Given the description of an element on the screen output the (x, y) to click on. 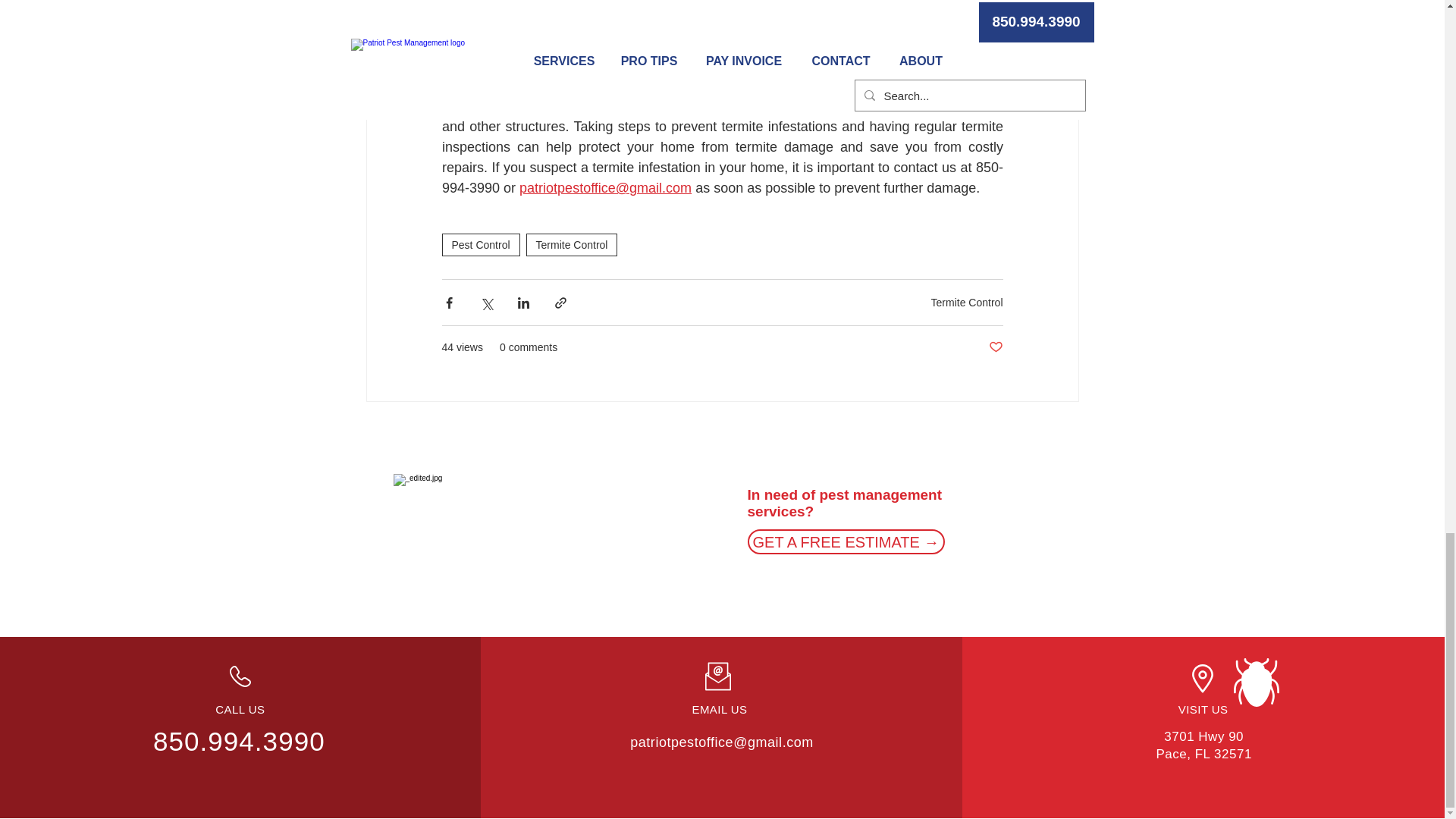
Termite Control (967, 302)
Pest Control (480, 244)
Post not marked as liked (995, 347)
Termite Control (571, 244)
850.994.3990 (238, 740)
